Given the description of an element on the screen output the (x, y) to click on. 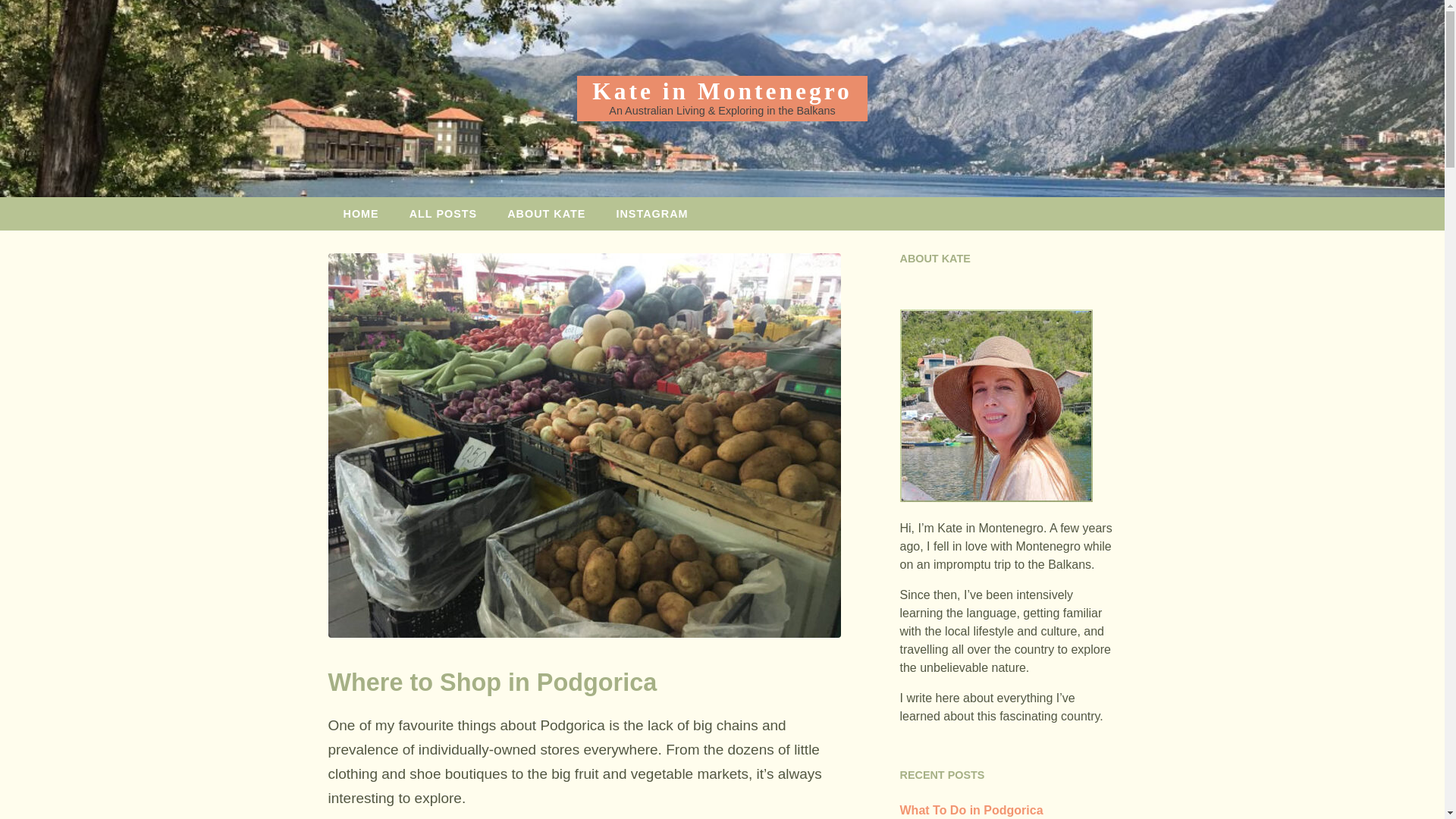
ALL POSTS (443, 213)
Kate in Montenegro (721, 90)
HOME (360, 213)
What To Do in Podgorica (970, 809)
ABOUT KATE (545, 213)
INSTAGRAM (651, 213)
Where to Shop in Podgorica (491, 682)
